Given the description of an element on the screen output the (x, y) to click on. 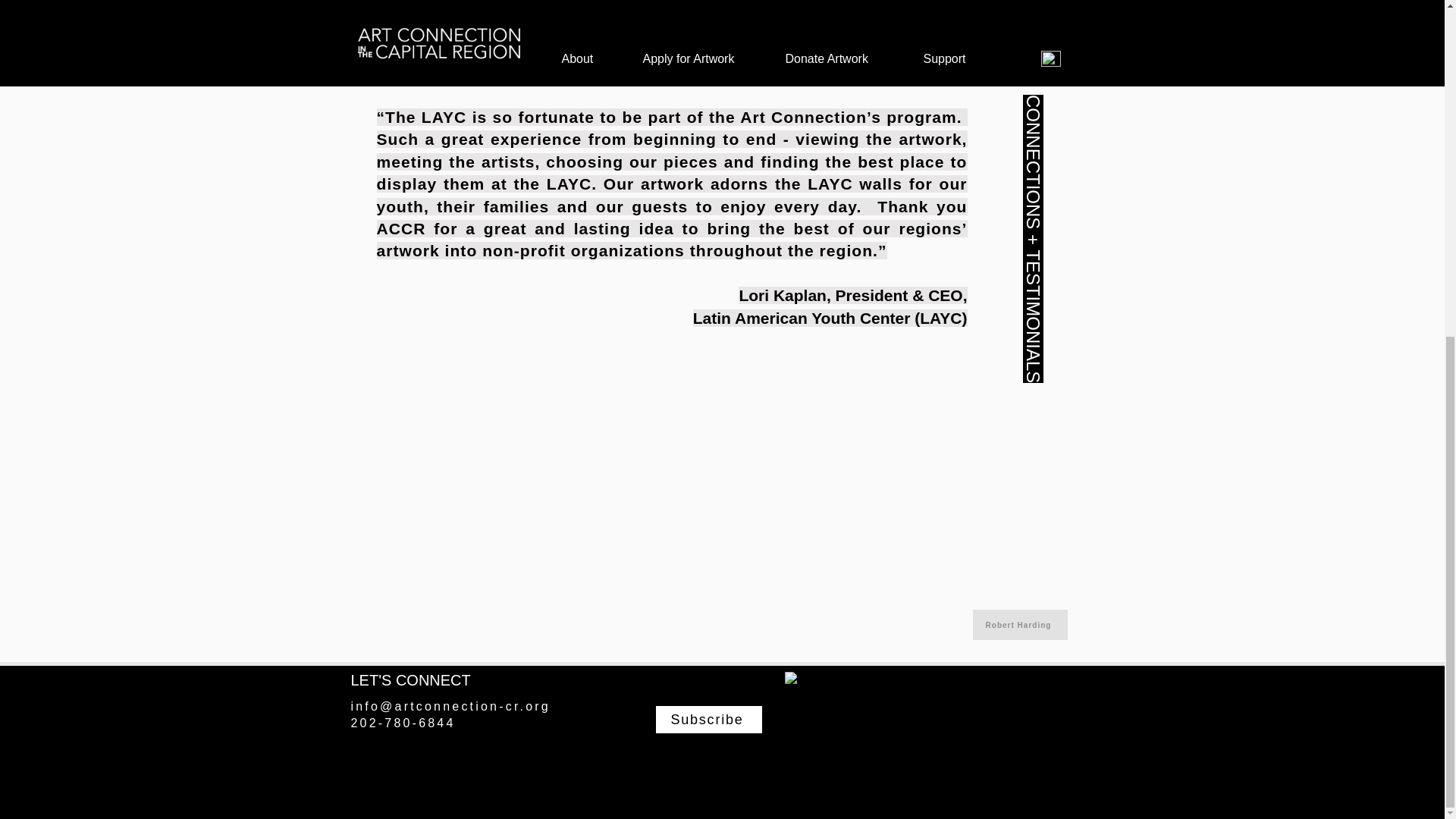
Subscribe (708, 719)
Robert Harding (1019, 624)
